Given the description of an element on the screen output the (x, y) to click on. 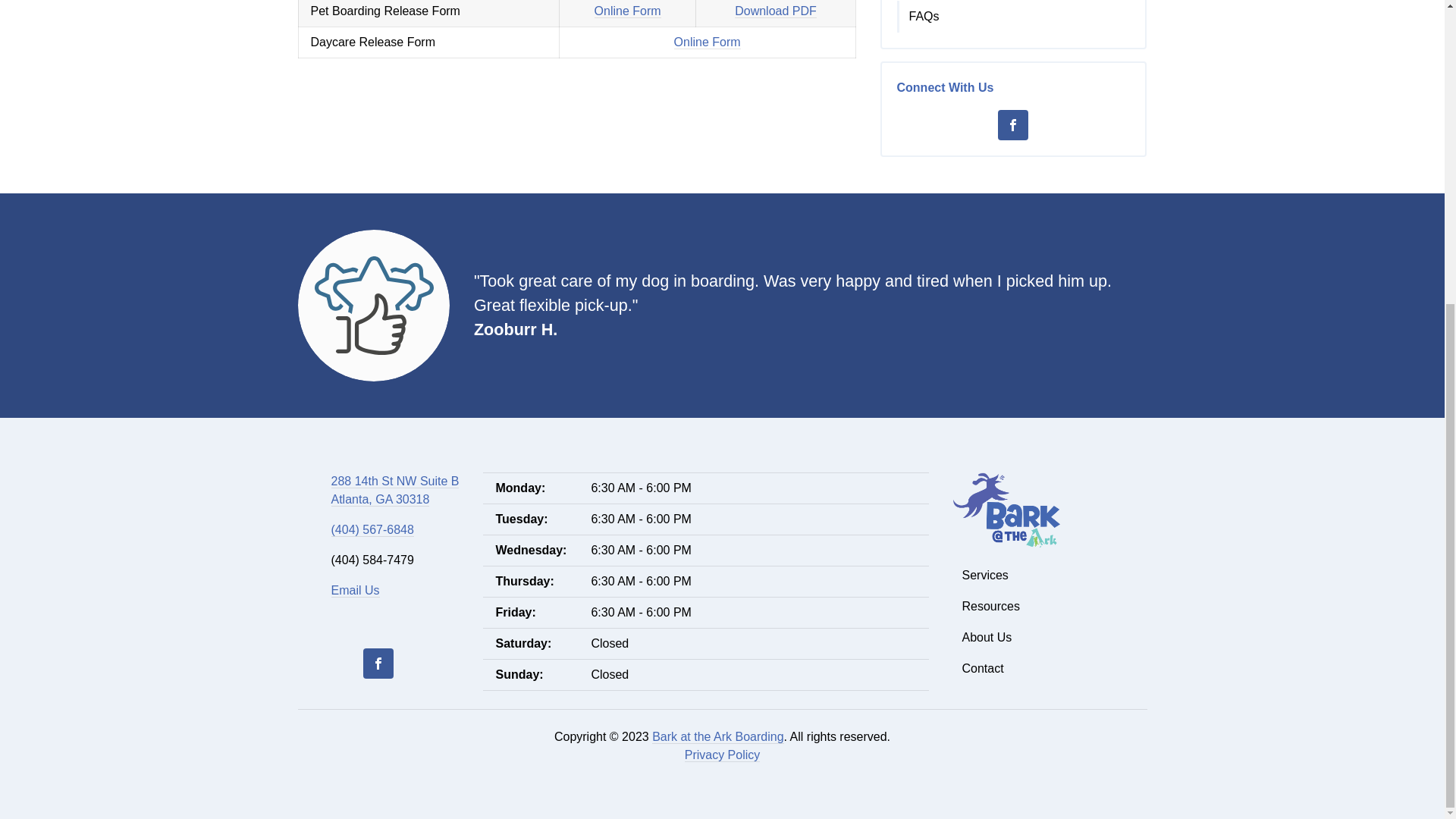
Online Form (707, 42)
Email Us (354, 590)
About Us (1049, 637)
Facebook (1012, 124)
Services (1049, 575)
Email Us (354, 590)
Contact (1049, 668)
Call Us (371, 530)
Online Form (627, 11)
Facebook (377, 663)
FAQs (1015, 16)
Download PDF (775, 11)
Open this Address on Google Maps (394, 490)
Resources (394, 490)
